Given the description of an element on the screen output the (x, y) to click on. 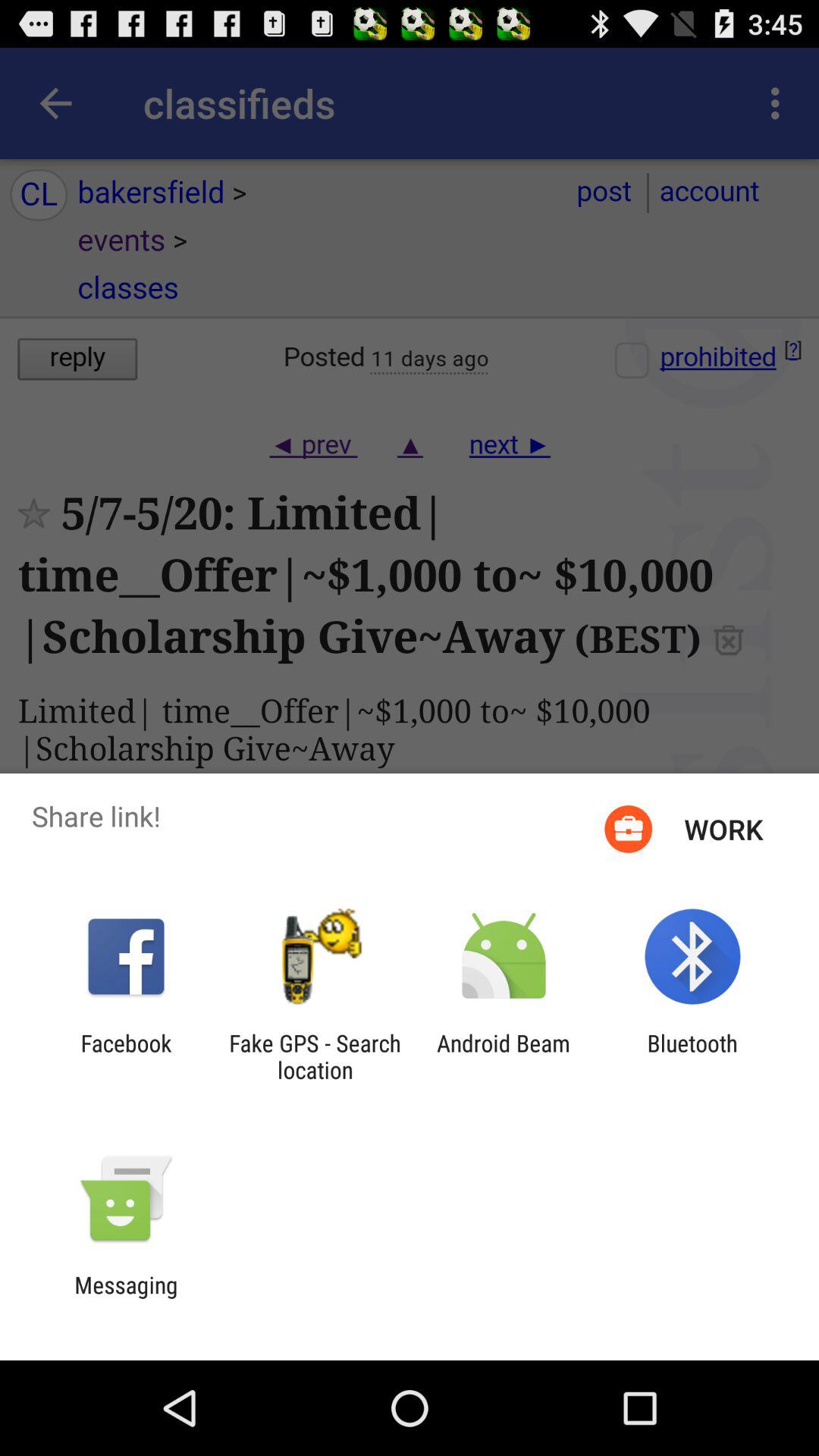
open app next to android beam (314, 1056)
